Given the description of an element on the screen output the (x, y) to click on. 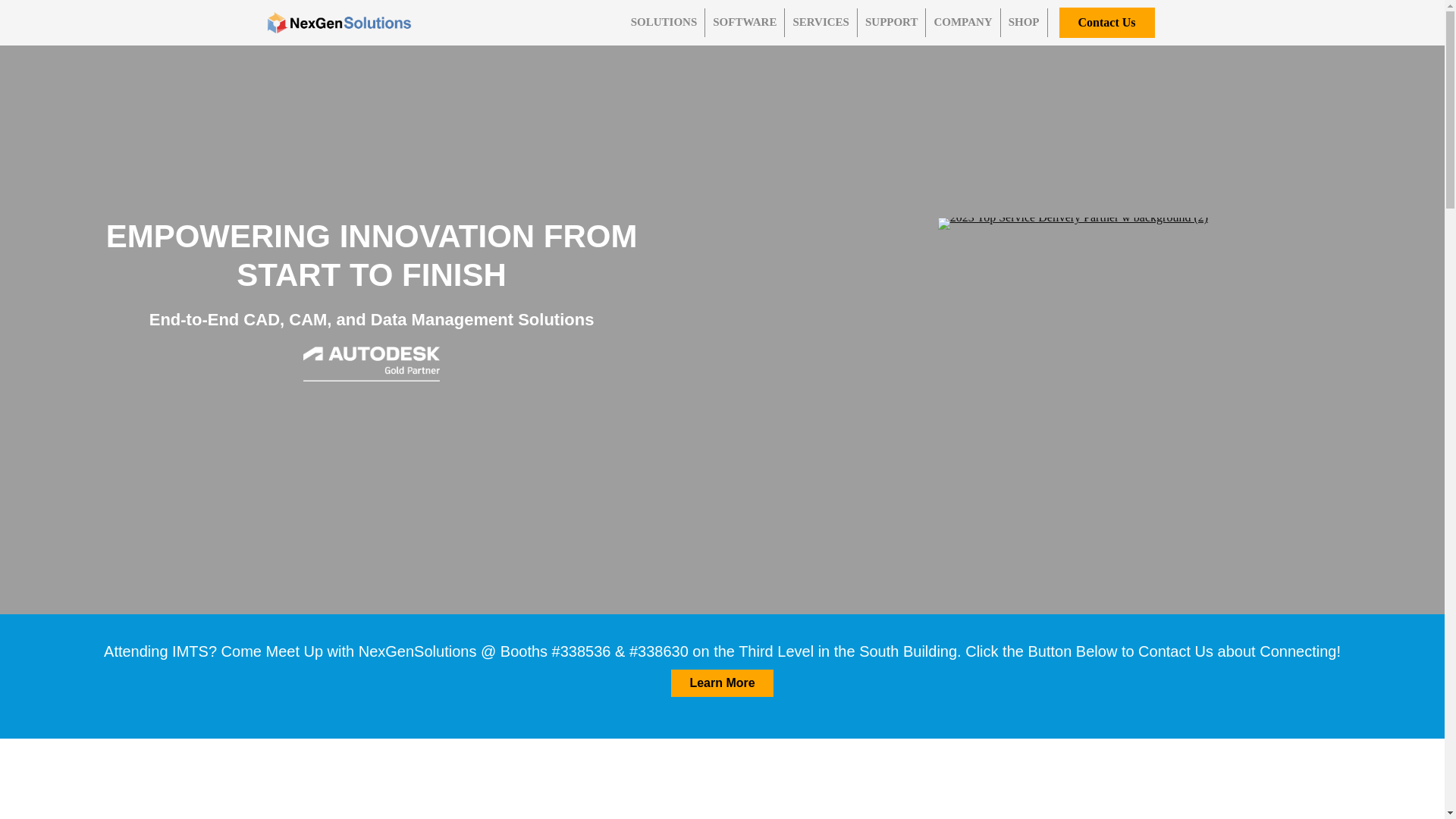
SOLUTIONS (664, 22)
autodesk-gold-partner-logo-rgb-white (370, 363)
SOFTWARE (744, 22)
